Given the description of an element on the screen output the (x, y) to click on. 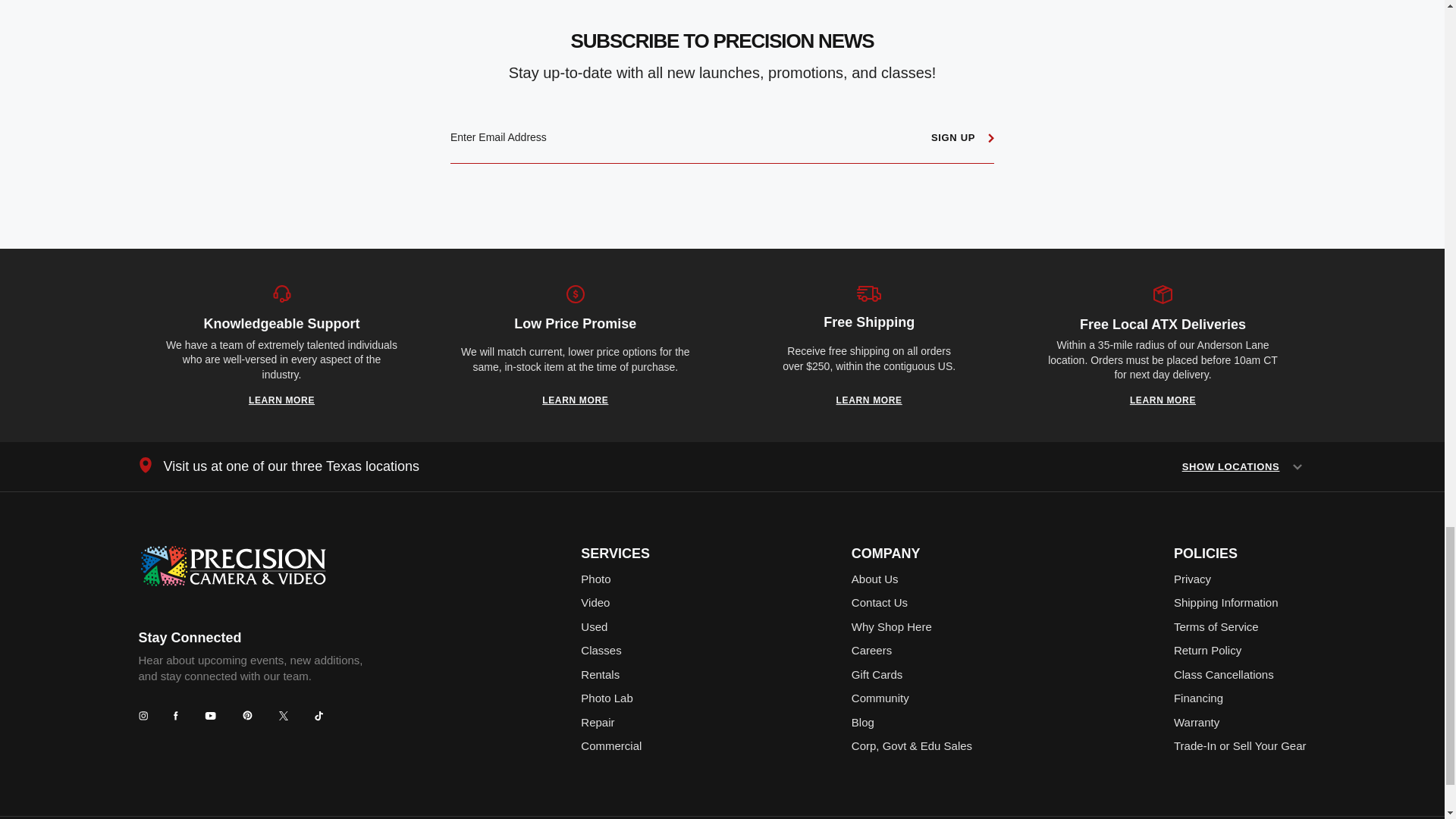
Instagram (142, 715)
Link for Free Shipping (868, 399)
Link for Deliveries (1162, 399)
Youtube (210, 715)
Link for Low Price (574, 399)
Link for Support (281, 399)
